Given the description of an element on the screen output the (x, y) to click on. 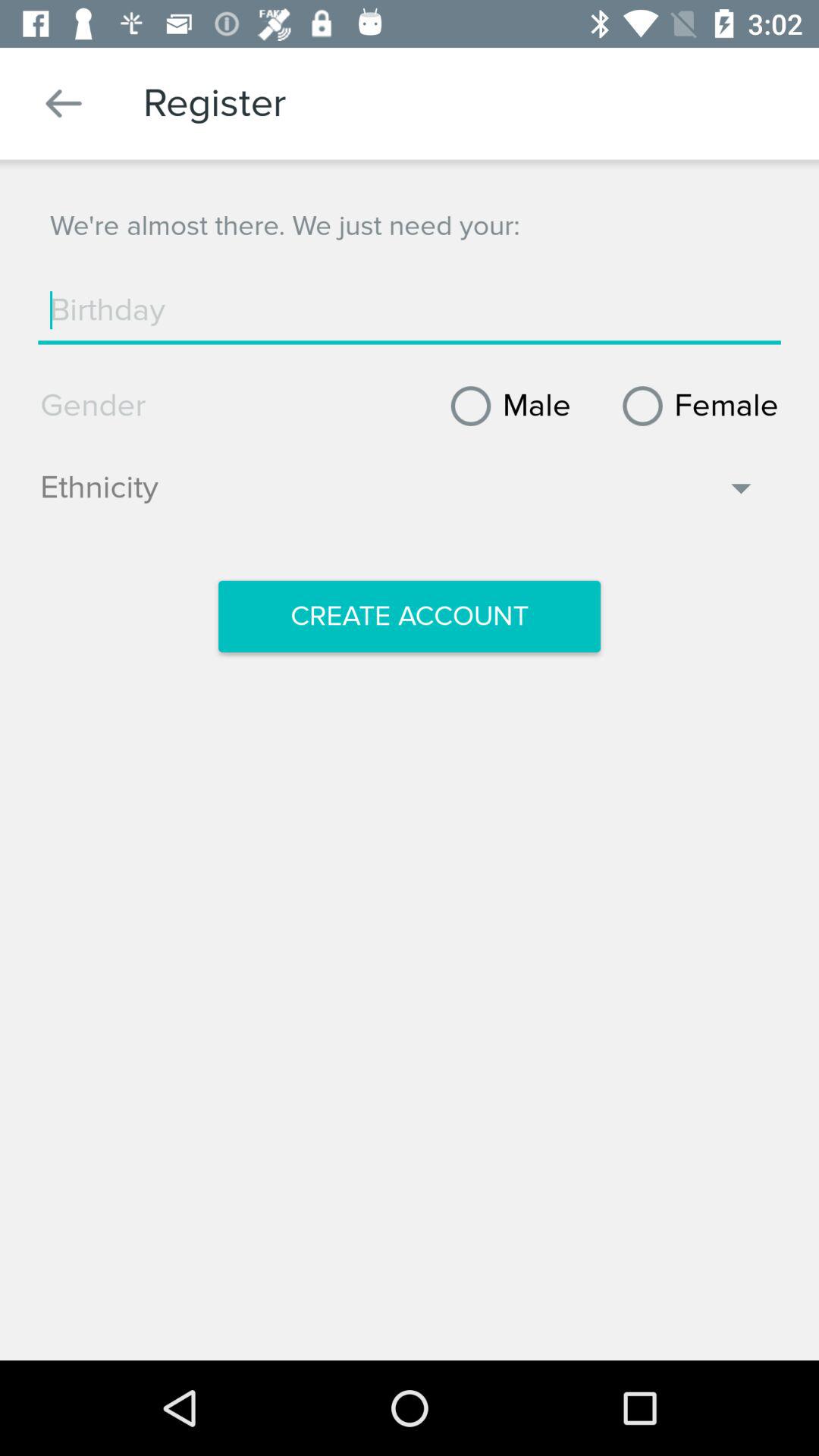
click icon next to the female (505, 405)
